Given the description of an element on the screen output the (x, y) to click on. 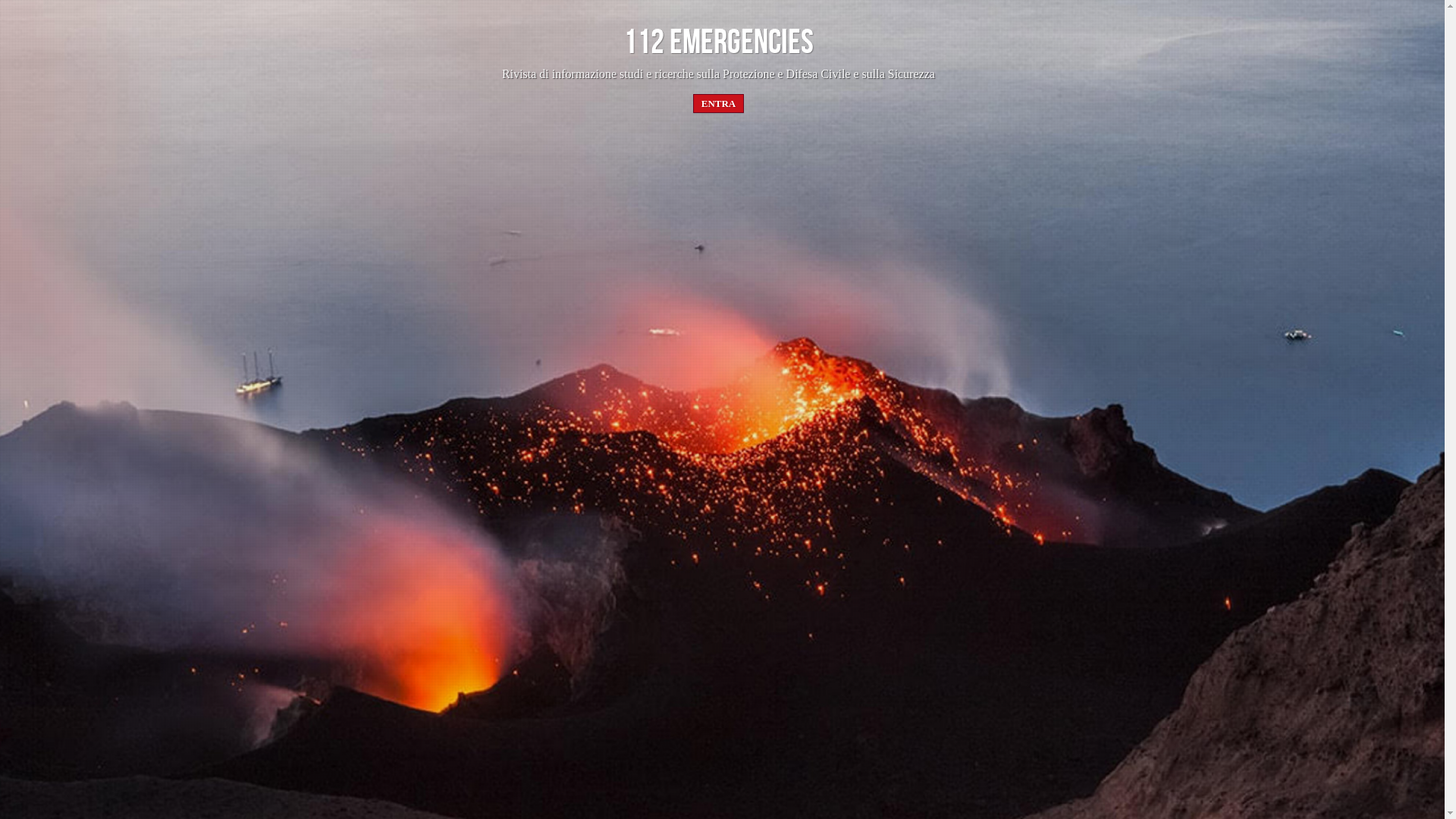
ENTRA Element type: text (718, 103)
